Given the description of an element on the screen output the (x, y) to click on. 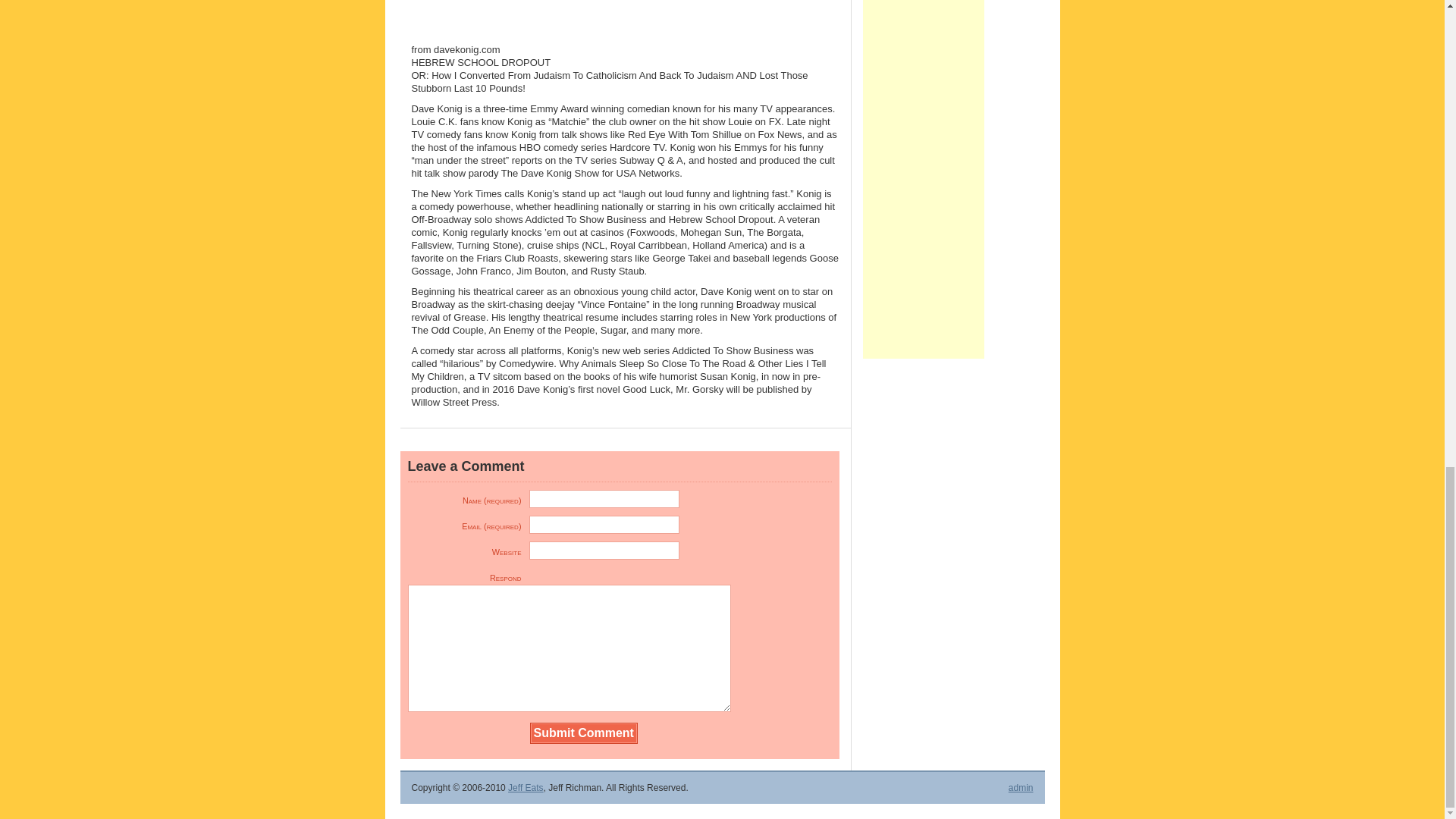
Submit Comment (584, 732)
Submit Comment (584, 732)
Jeff Eats (525, 787)
